Given the description of an element on the screen output the (x, y) to click on. 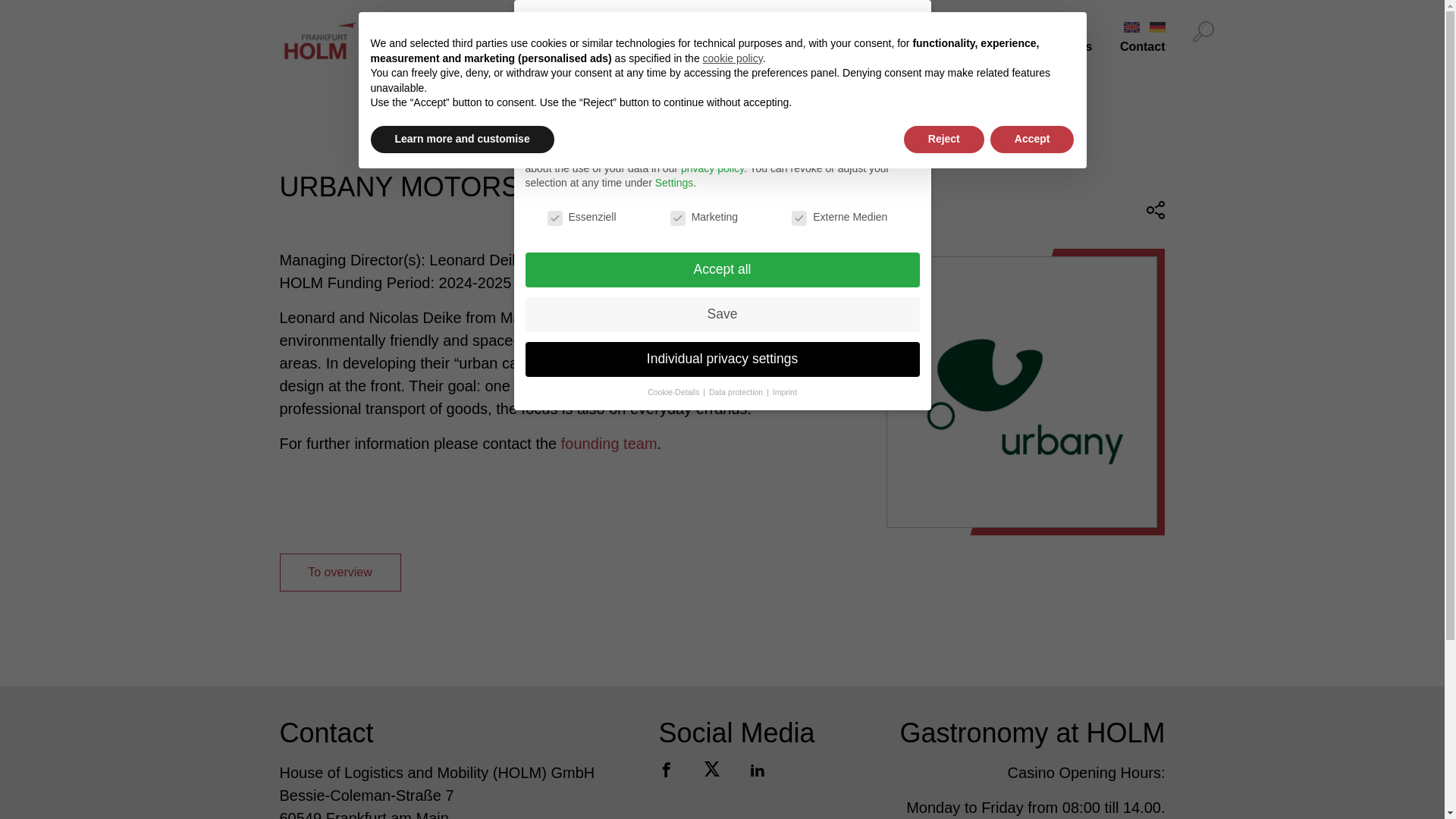
Learn more and customise (461, 139)
About us (770, 46)
Deutsch (1158, 27)
About us (770, 46)
Reject (944, 139)
English (1132, 27)
Our Services (861, 46)
Our Services (861, 46)
Accept (1032, 139)
cookie policy (732, 58)
